Given the description of an element on the screen output the (x, y) to click on. 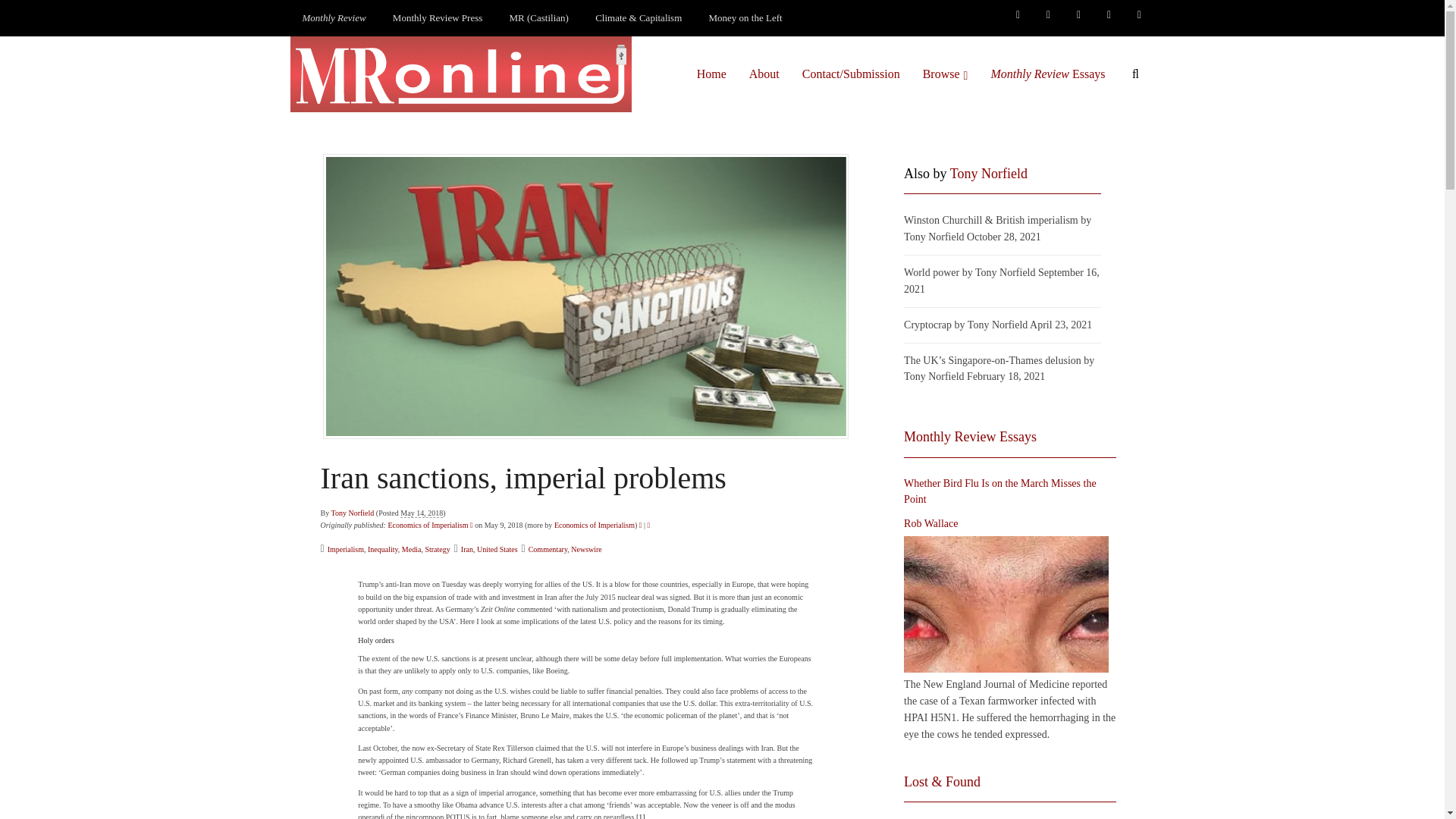
Monthly Review Press (437, 18)
Money on the Left (745, 18)
Monthly Review Magazine (333, 18)
Monthly Review (333, 18)
Browse (945, 74)
Whether Bird Flu Is on the March Misses the Point (1006, 604)
Posts by Rob Wallace (931, 523)
